Given the description of an element on the screen output the (x, y) to click on. 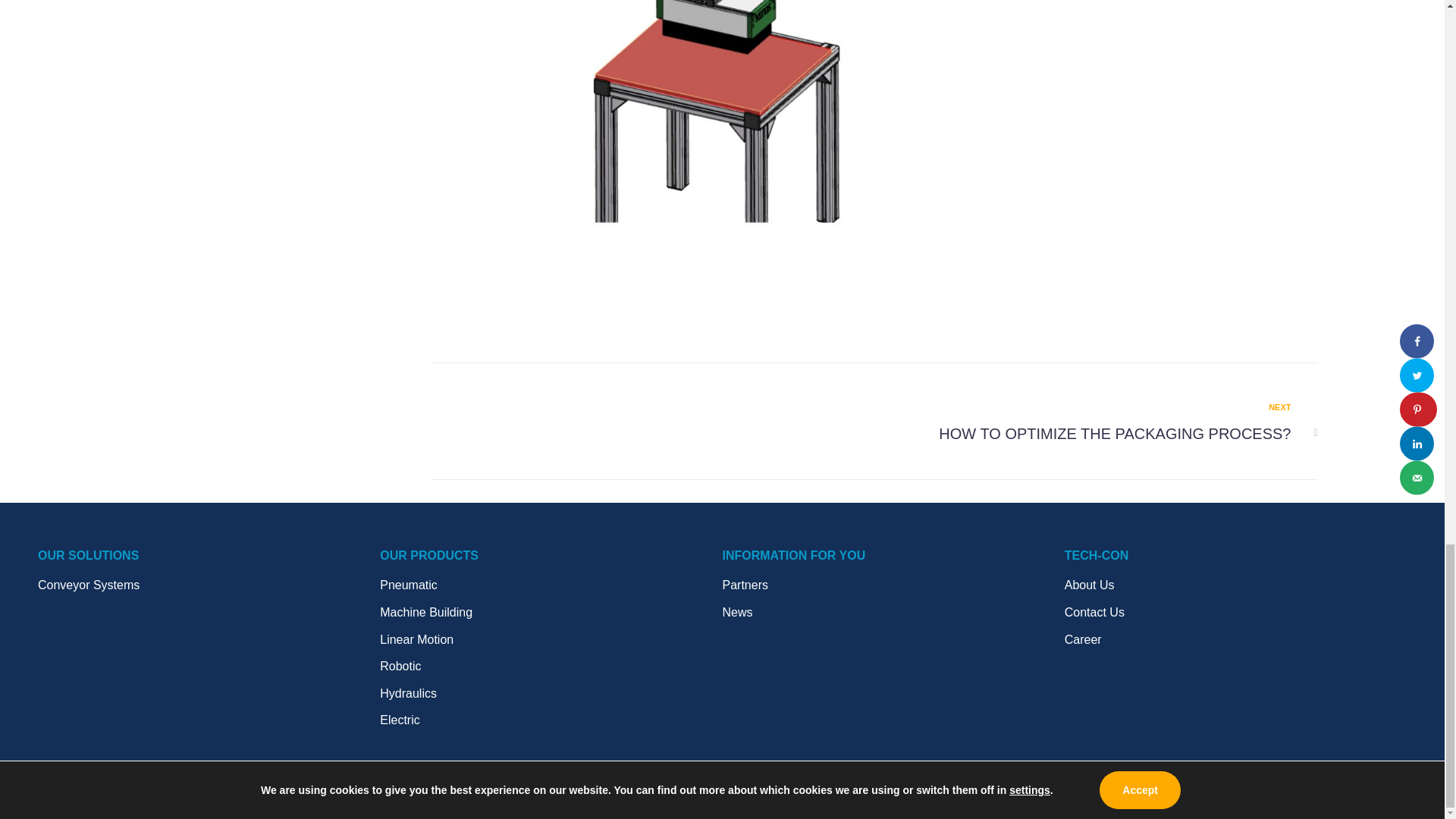
Conveyor Systems (208, 585)
Hydraulics (551, 693)
Pneumatic (1088, 423)
Robotic (551, 585)
Partners (551, 666)
OUR SOLUTIONS (893, 585)
Linear Motion (208, 555)
Electric (551, 639)
Machine Building (551, 720)
